Given the description of an element on the screen output the (x, y) to click on. 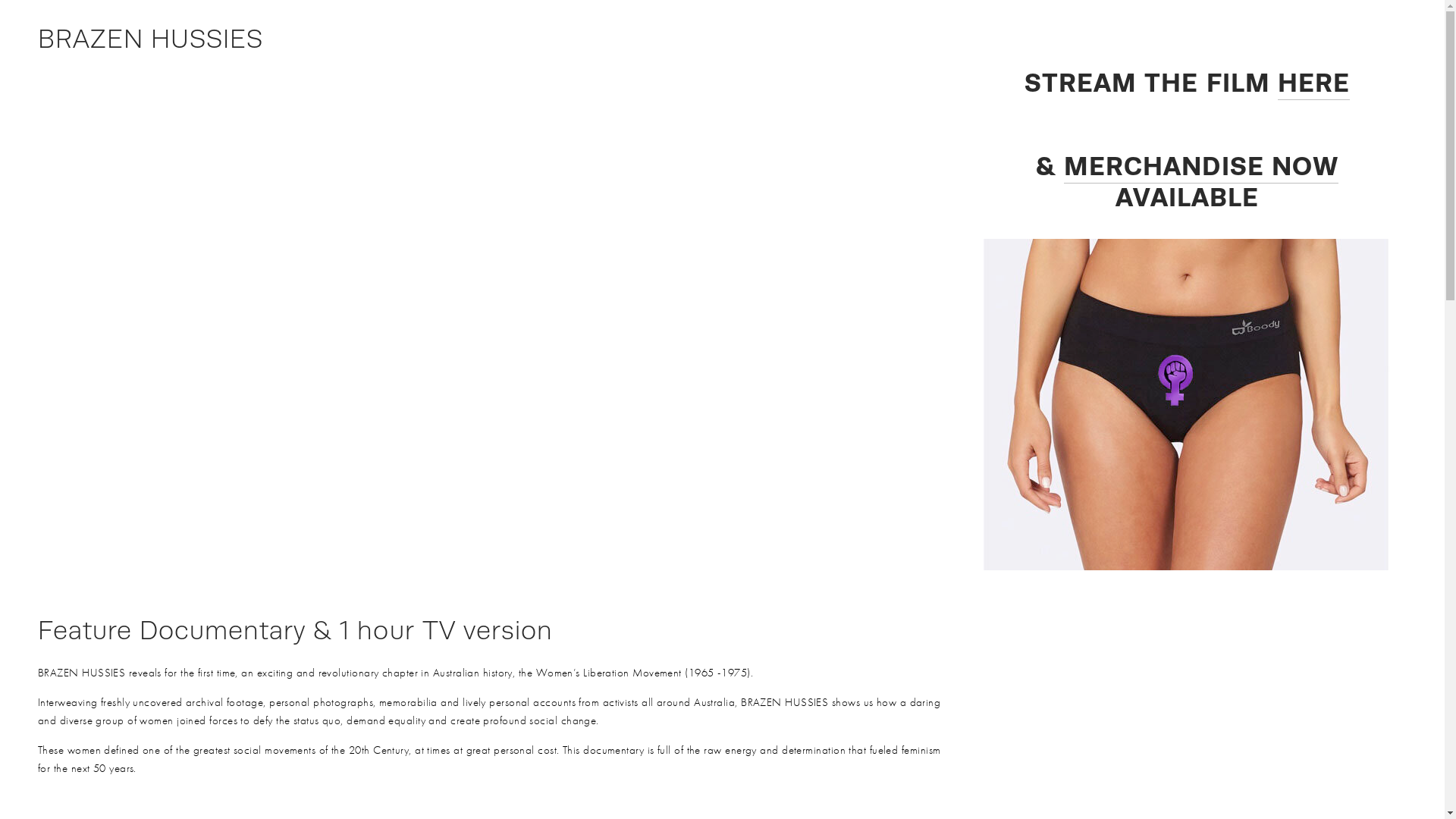
HERE Element type: text (1313, 83)
MERCHANDISE NOW Element type: text (1200, 166)
